Given the description of an element on the screen output the (x, y) to click on. 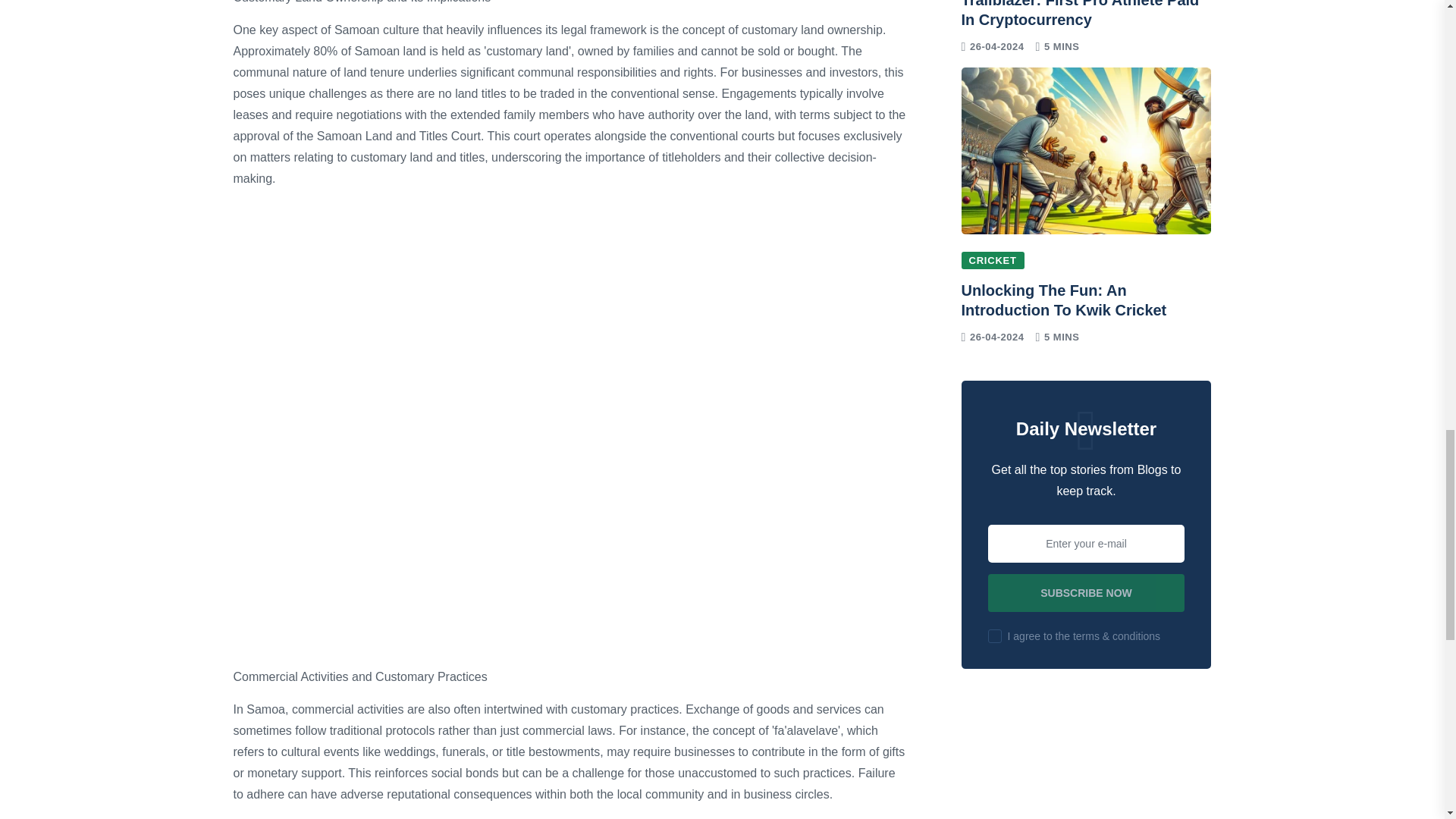
on (994, 635)
